Given the description of an element on the screen output the (x, y) to click on. 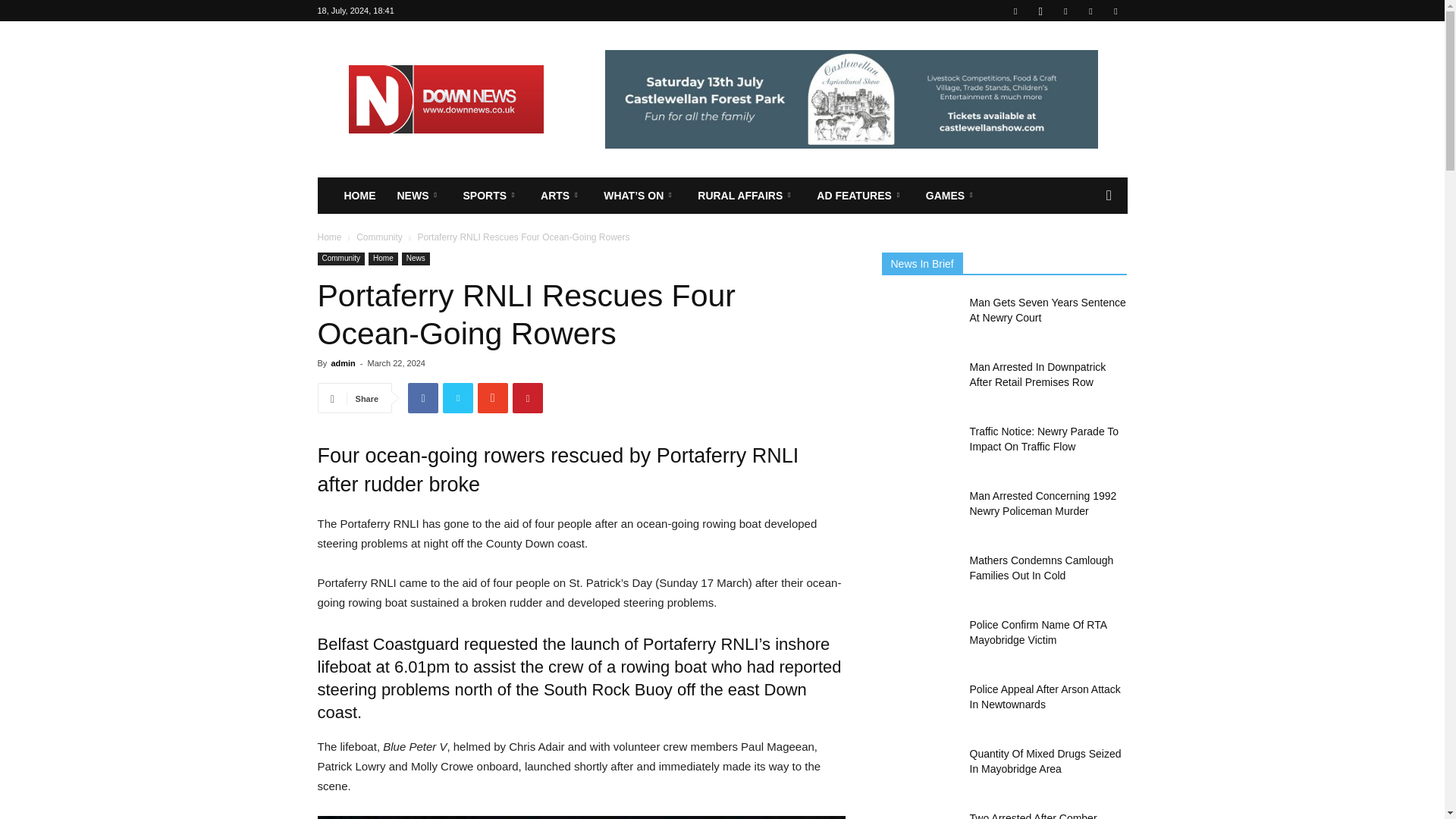
Youtube (1114, 10)
Facebook (1015, 10)
View all posts in Community (379, 236)
Twitter (1090, 10)
Linkedin (1065, 10)
Instagram (1040, 10)
